Given the description of an element on the screen output the (x, y) to click on. 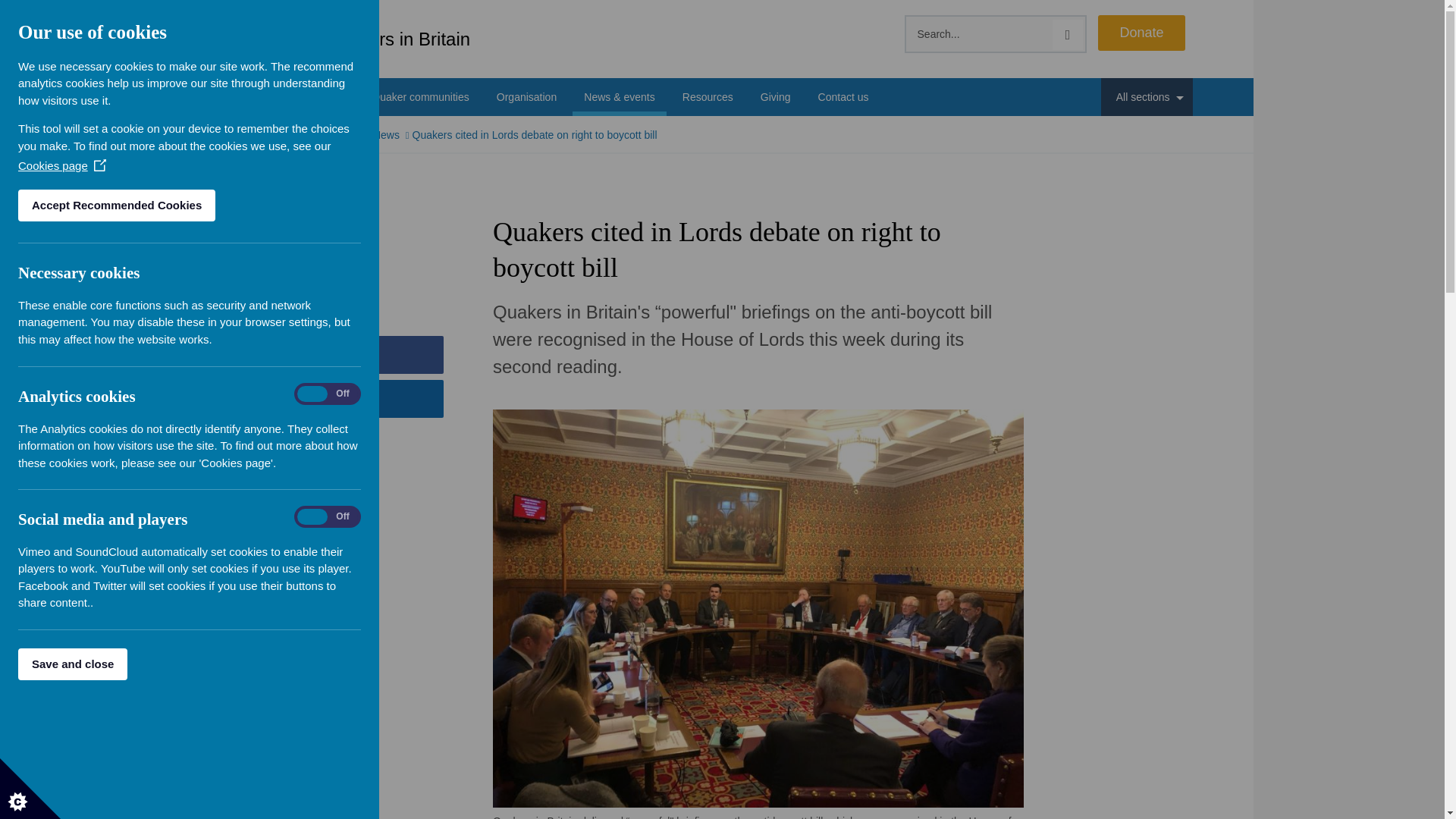
Contact us (843, 96)
Submit search (1067, 34)
Donate (1141, 32)
Cookie Control Icon (30, 788)
Quaker communities (419, 96)
Organisation (525, 96)
Faith (274, 96)
Action (329, 96)
Resources (706, 96)
Quakers in Britain (360, 38)
